Given the description of an element on the screen output the (x, y) to click on. 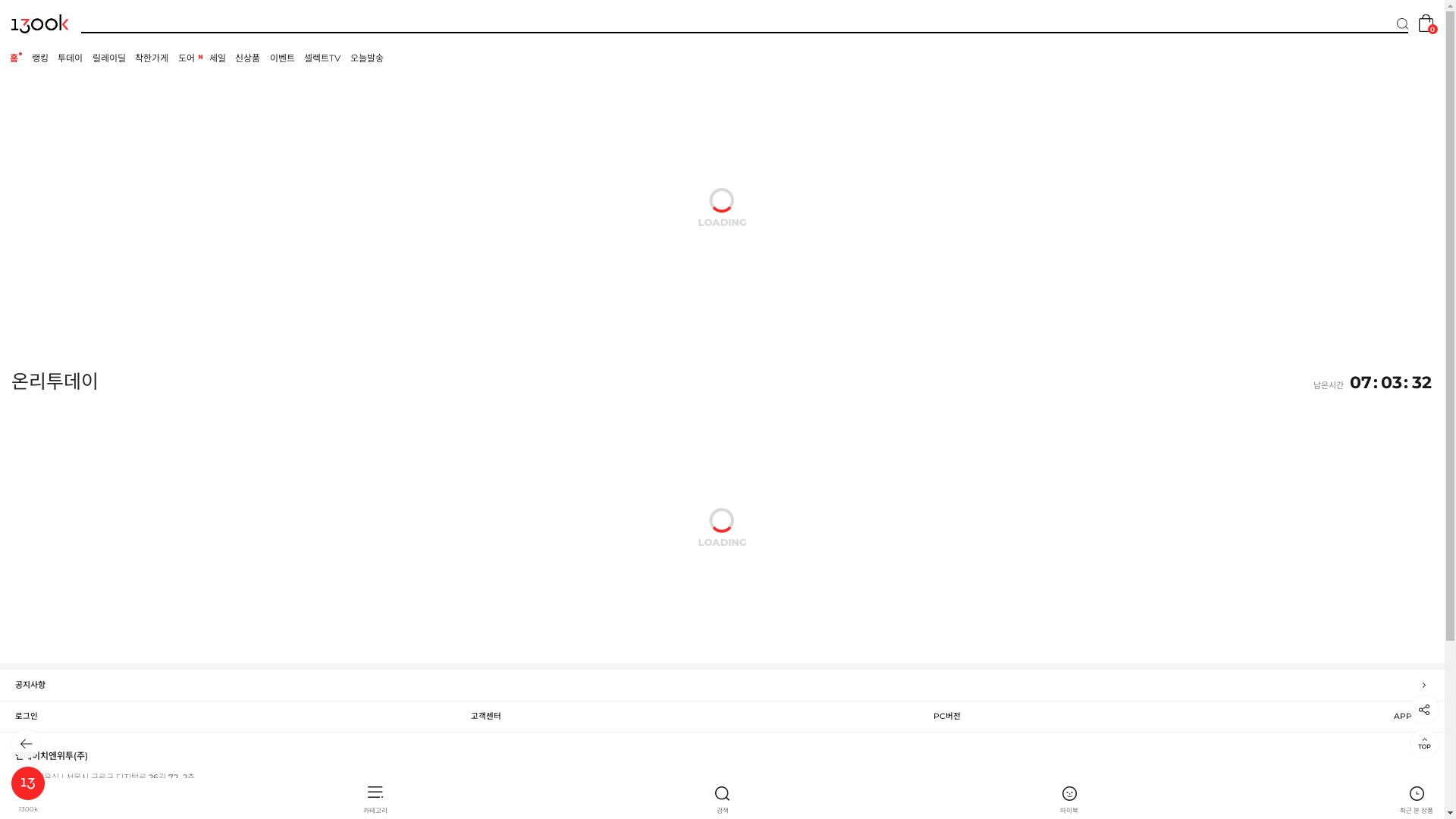
1300k Element type: text (27, 789)
cs@1300k.com Element type: text (73, 789)
